Given the description of an element on the screen output the (x, y) to click on. 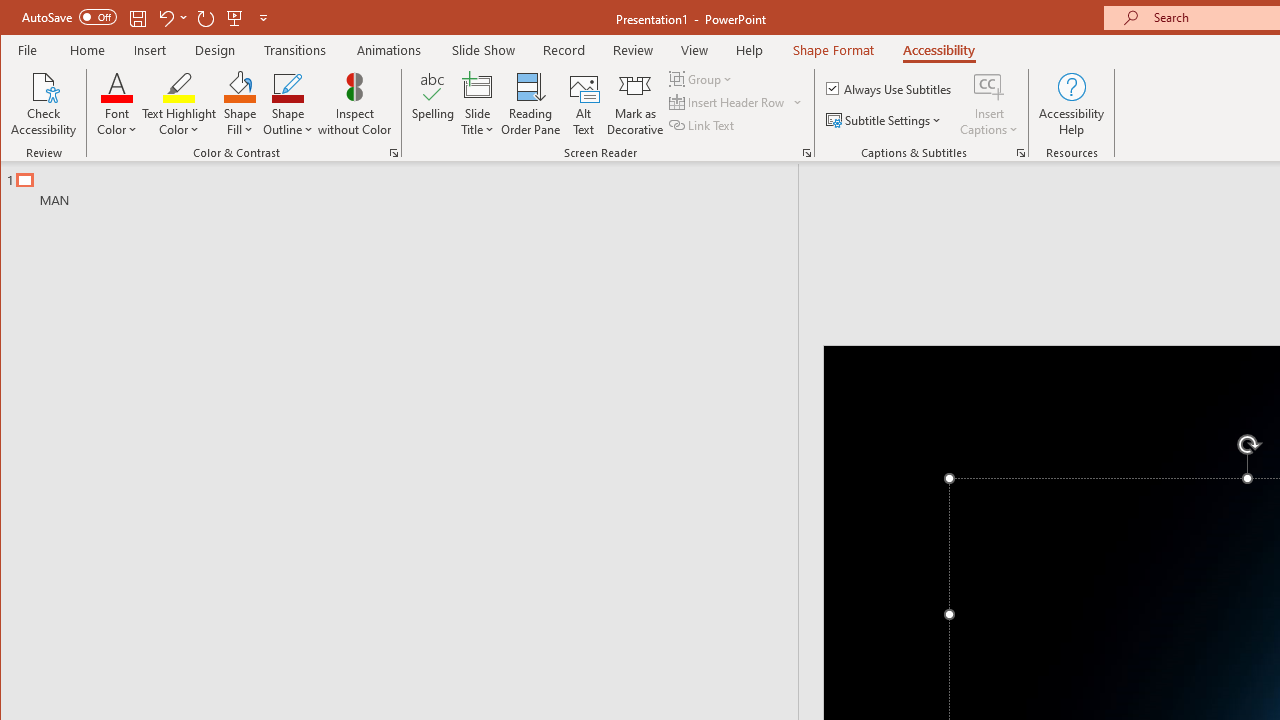
Captions & Subtitles (1020, 152)
Screen Reader (806, 152)
Link Text (703, 124)
Group (701, 78)
